Given the description of an element on the screen output the (x, y) to click on. 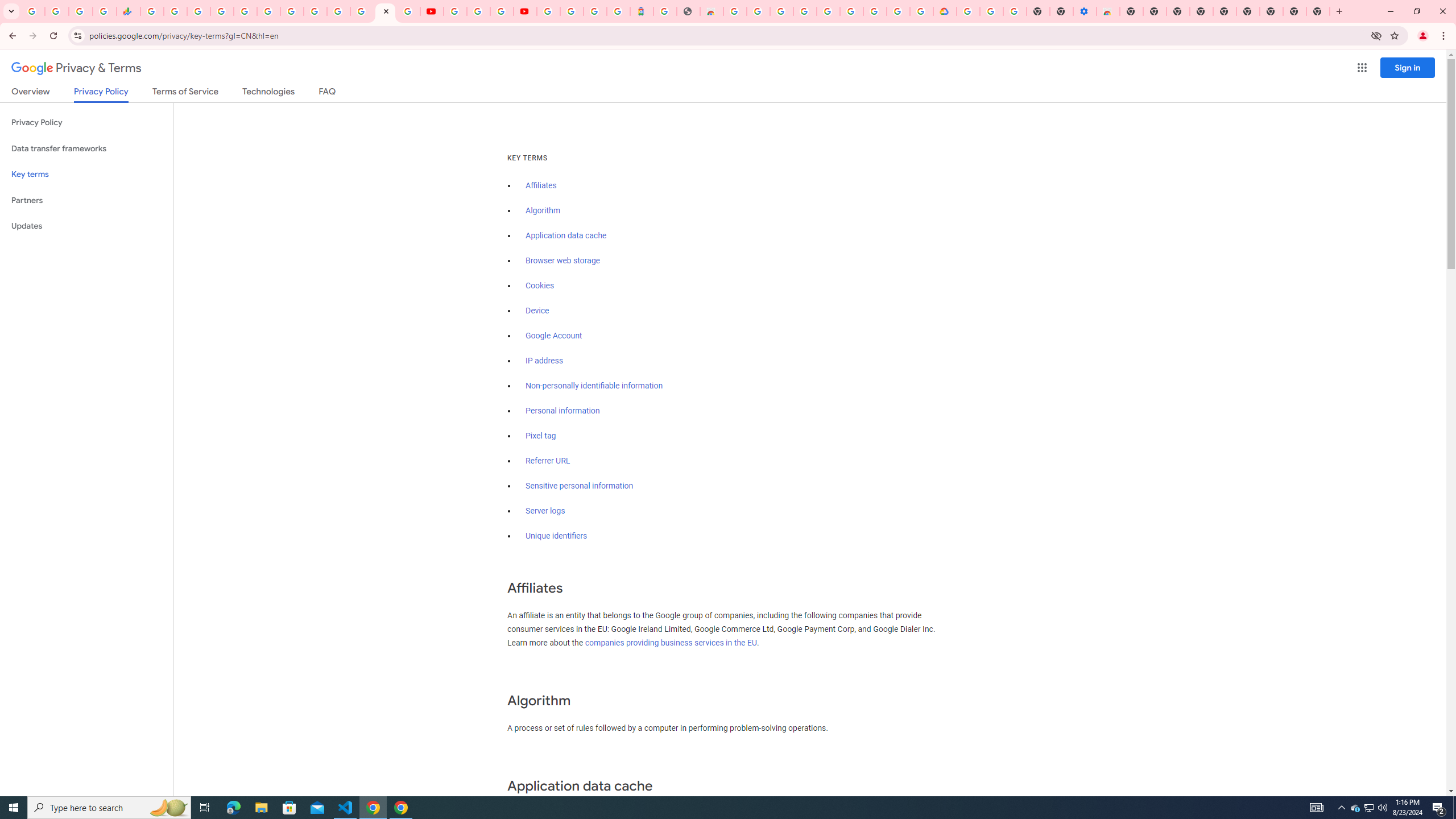
Device (536, 311)
Non-personally identifiable information (593, 385)
IP address (544, 361)
Android TV Policies and Guidelines - Transparency Center (291, 11)
Pixel tag (540, 435)
Browse the Google Chrome Community - Google Chrome Community (921, 11)
YouTube (314, 11)
Content Creator Programs & Opportunities - YouTube Creators (524, 11)
Privacy & Terms (76, 68)
Sign in - Google Accounts (338, 11)
Application data cache (566, 235)
